Given the description of an element on the screen output the (x, y) to click on. 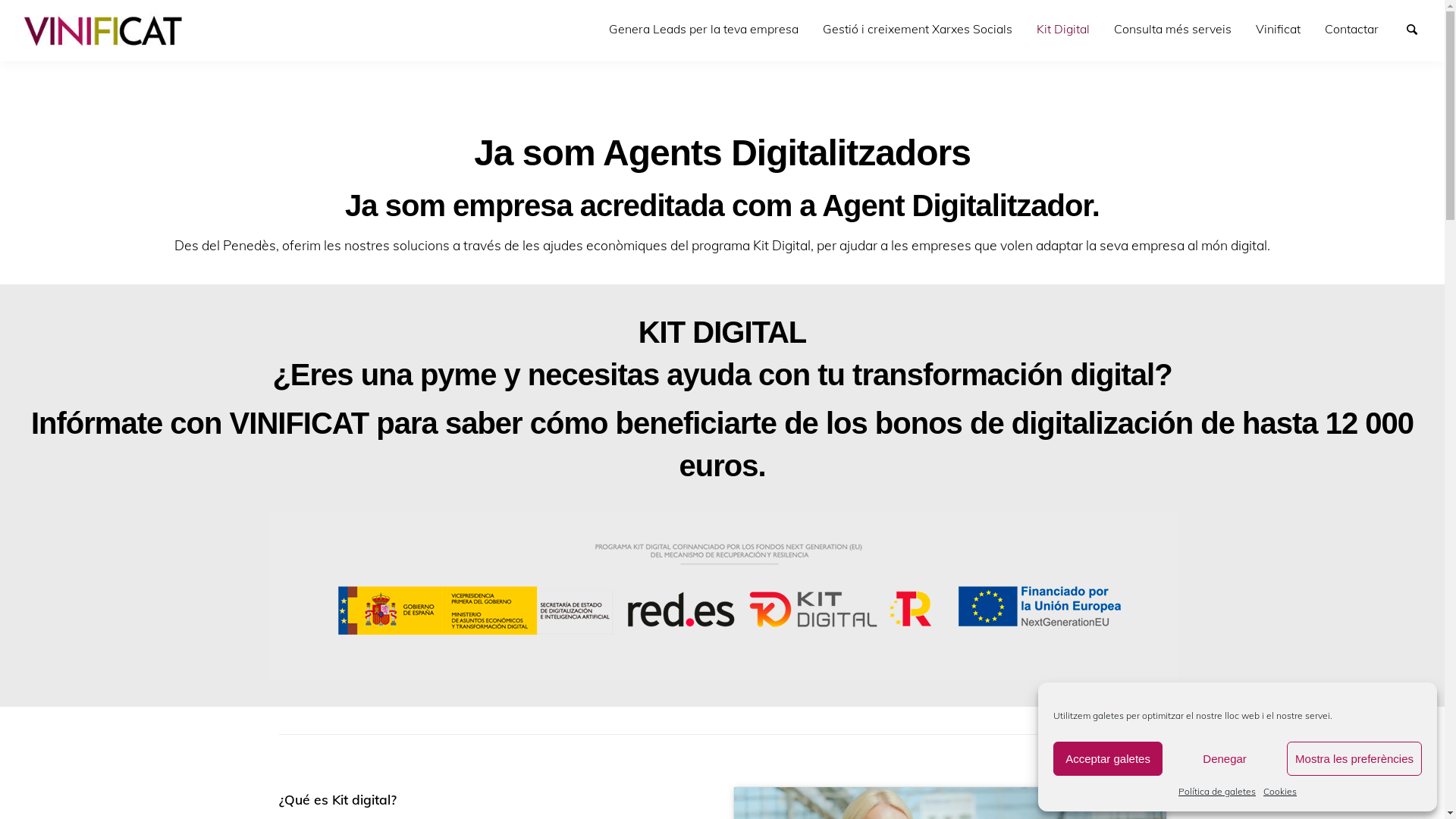
Kit Digital Element type: text (1062, 28)
Acceptar galetes Element type: text (1107, 758)
Contactar Element type: text (1351, 28)
Search Element type: text (1418, 27)
Genera Leads per la teva empresa Element type: text (703, 28)
Cookies Element type: text (1279, 791)
Denegar Element type: text (1224, 758)
Vinificat Element type: text (1277, 28)
